Given the description of an element on the screen output the (x, y) to click on. 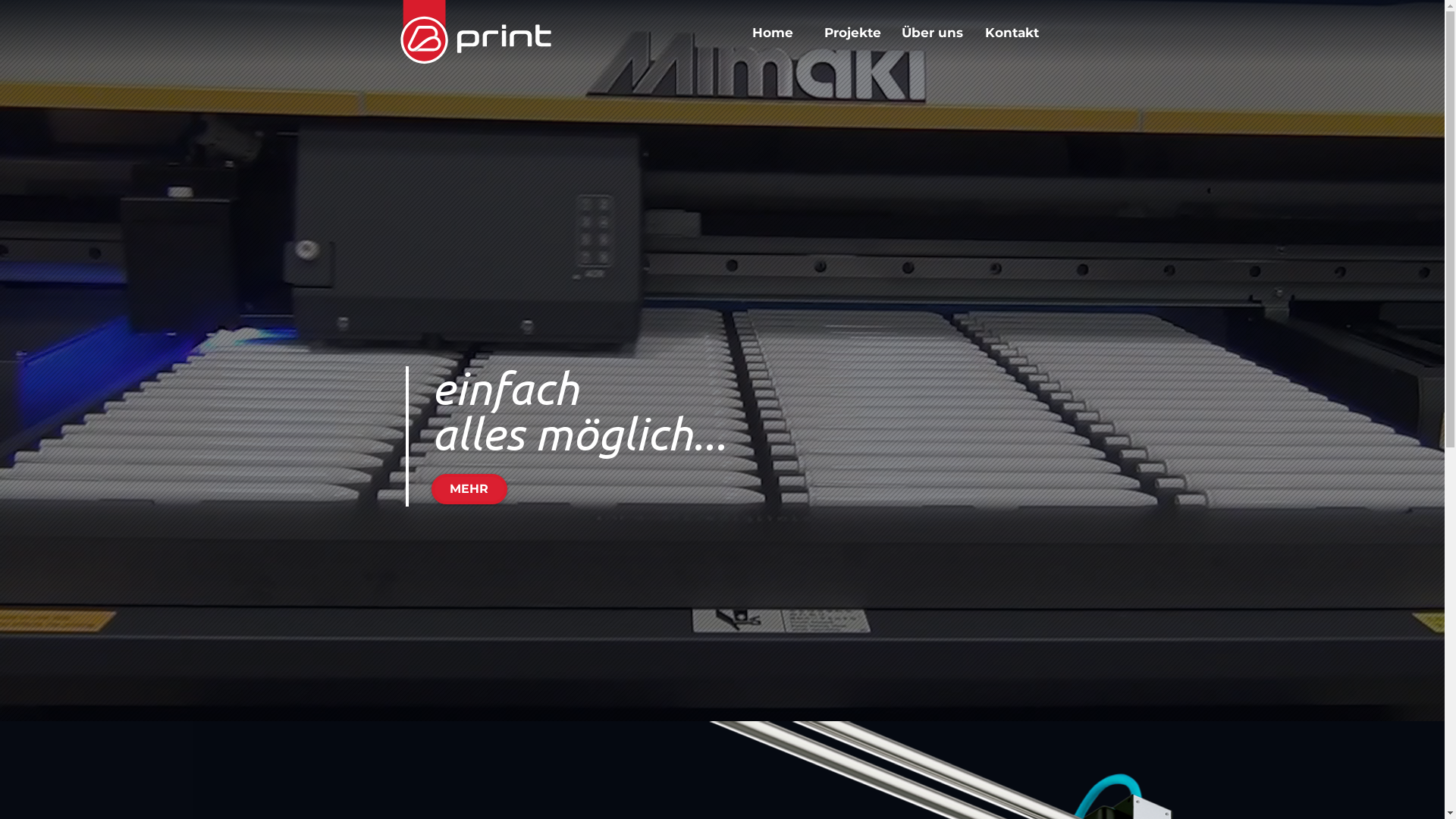
Kontakt Element type: text (1011, 32)
MEHR Element type: text (468, 488)
Home Element type: text (772, 32)
Projekte Element type: text (852, 32)
